Given the description of an element on the screen output the (x, y) to click on. 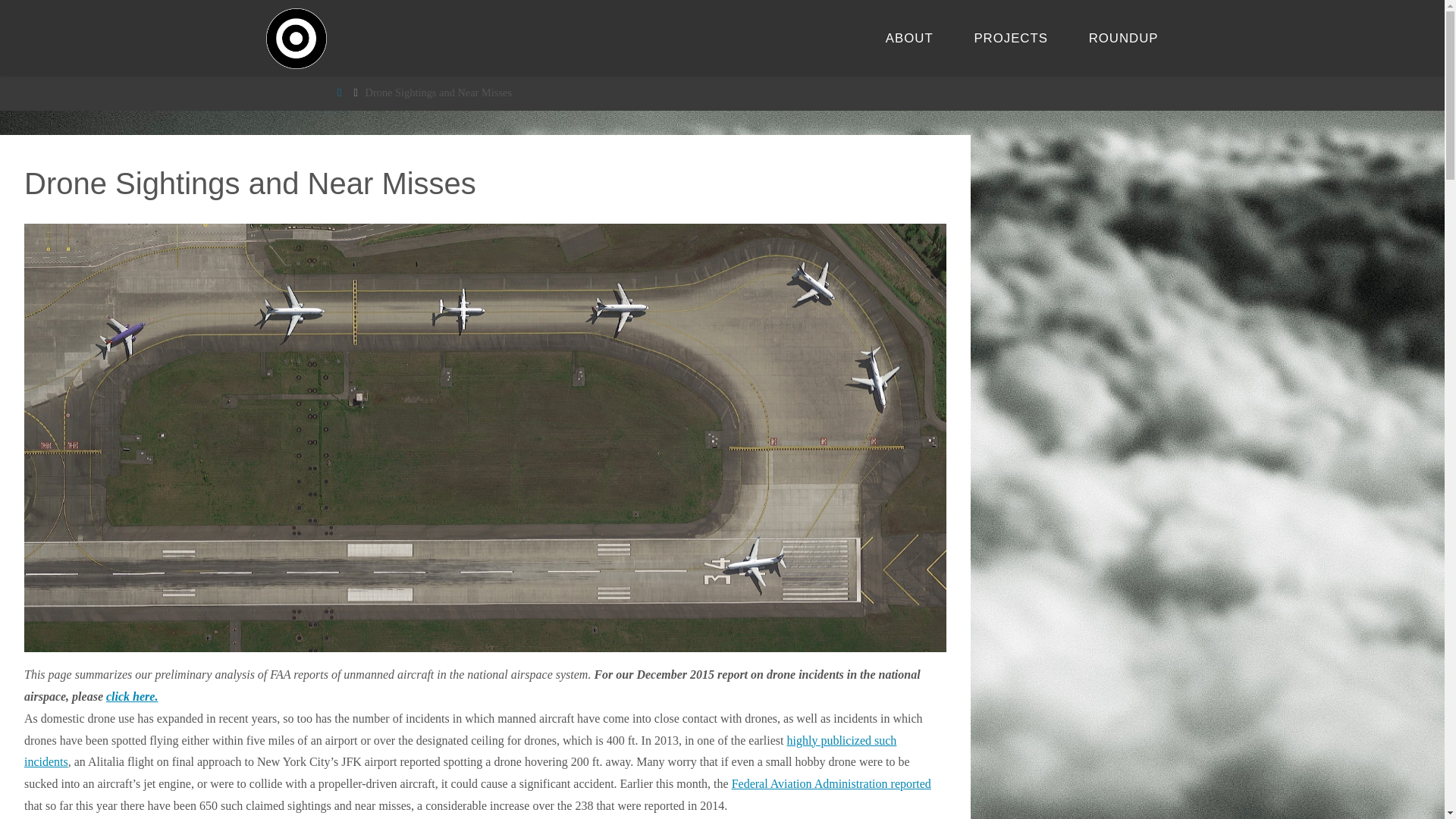
Federal Aviation Administration reported (831, 783)
ABOUT (908, 38)
About the Drone Center (908, 38)
click here. (131, 696)
ROUNDUP (1123, 38)
highly publicized such incidents (460, 751)
PROJECTS (1010, 38)
